Given the description of an element on the screen output the (x, y) to click on. 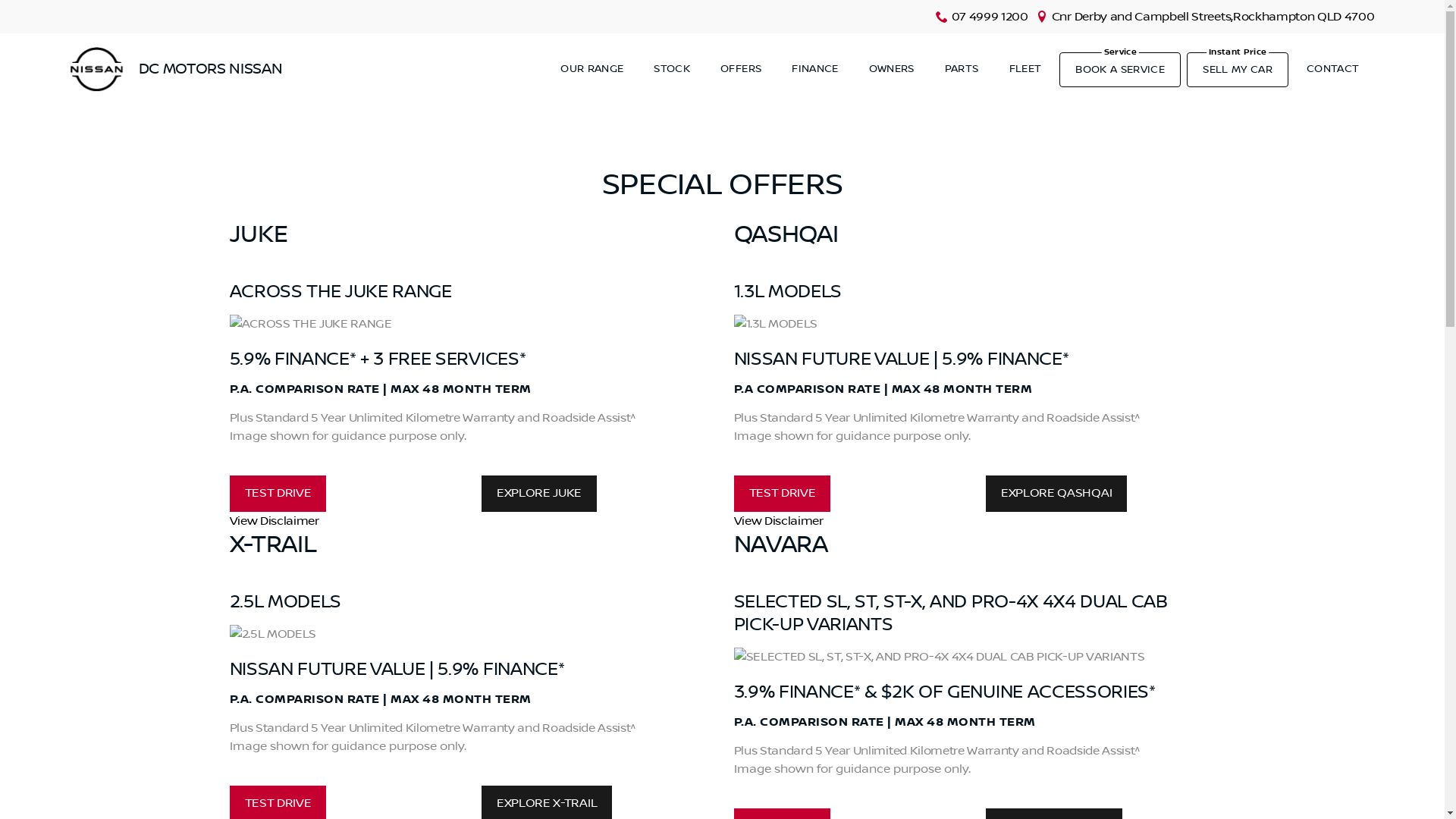
OWNERS Element type: text (891, 68)
View Disclaimer Element type: text (974, 520)
View Disclaimer Element type: text (469, 520)
FLEET Element type: text (1025, 68)
DC MOTORS NISSAN Element type: text (175, 69)
SELL MY CAR Element type: text (1237, 69)
07 4999 1200 Element type: text (989, 16)
STOCK Element type: text (671, 68)
EXPLORE JUKE Element type: text (538, 493)
CONTACT Element type: text (1332, 68)
OUR RANGE Element type: text (591, 68)
PARTS Element type: text (961, 68)
EXPLORE QASHQAI Element type: text (1055, 493)
Cnr Derby and Campbell Streets,Rockhampton QLD 4700 Element type: text (1212, 16)
TEST DRIVE Element type: text (277, 493)
BOOK A SERVICE Element type: text (1119, 69)
OFFERS Element type: text (740, 68)
FINANCE Element type: text (814, 68)
TEST DRIVE Element type: text (782, 493)
